Given the description of an element on the screen output the (x, y) to click on. 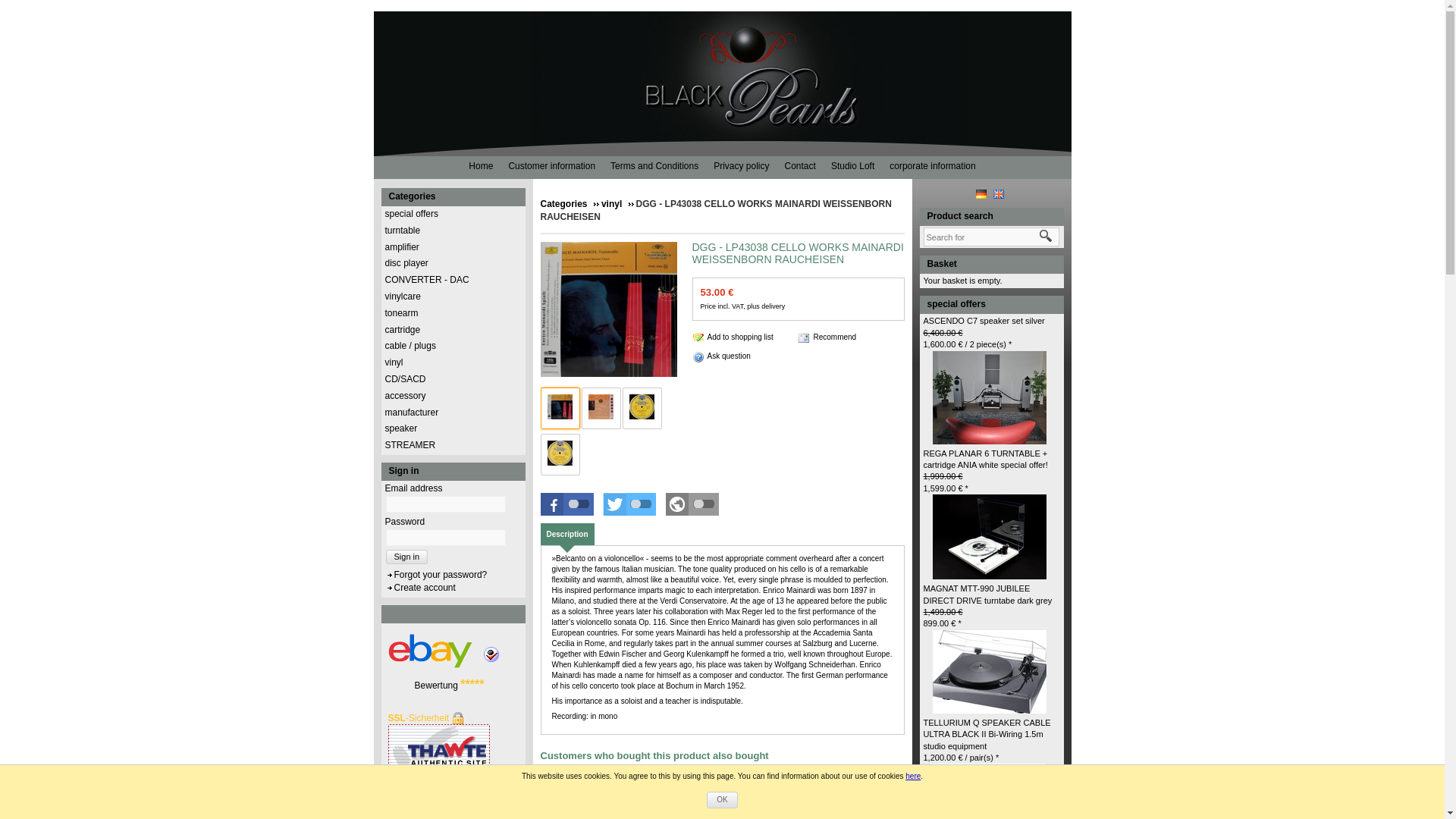
Categories (452, 197)
corporate information (935, 165)
Customer information (555, 165)
SSL-Sicherheit (426, 717)
Contact (804, 165)
Go to product (989, 793)
disc player (406, 262)
Studio Loft (856, 165)
Go to product (989, 535)
Start search (1045, 236)
Bewertung (436, 685)
Sign in (406, 556)
Privacy policy (744, 165)
Forgot your password? (436, 574)
speaker (401, 428)
